Given the description of an element on the screen output the (x, y) to click on. 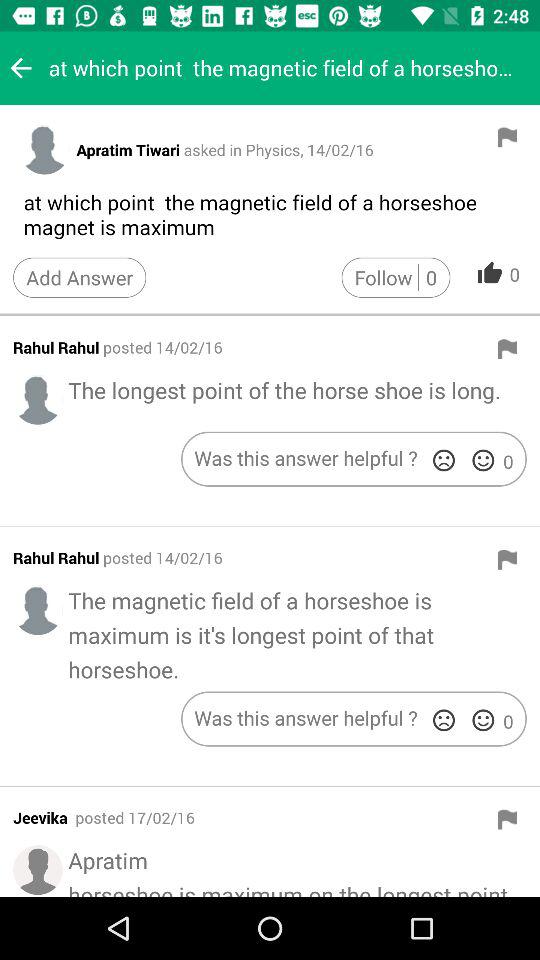
flag post (507, 349)
